Given the description of an element on the screen output the (x, y) to click on. 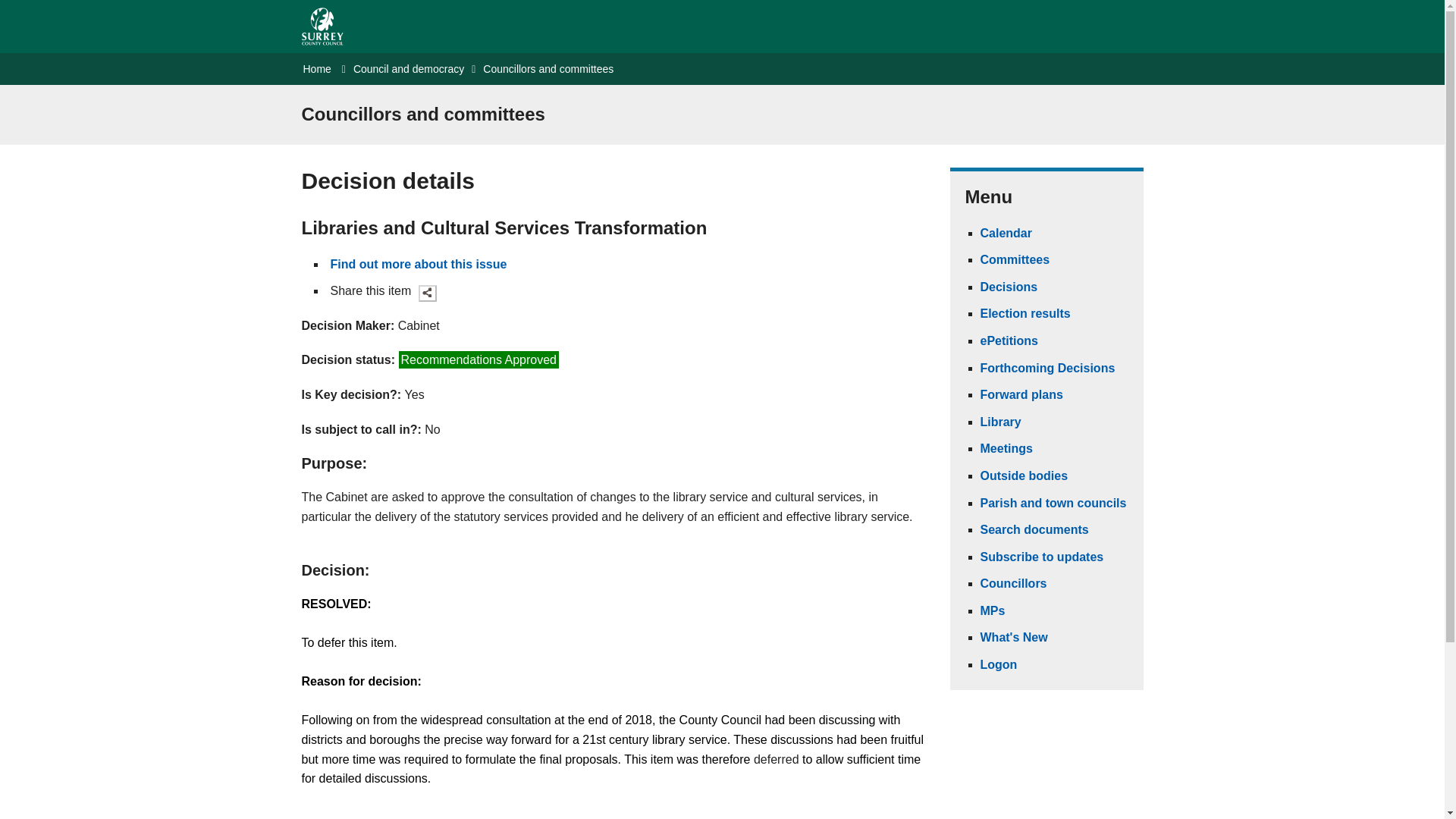
Surrey County Council homepage (322, 26)
Link to Forthcoming Decisions (1047, 367)
Calendar (1004, 232)
Committees (1014, 259)
Library (999, 421)
Link to councillors (1012, 583)
Link to documents library (999, 421)
Outside bodies (1023, 475)
Link to ePetitions (1007, 340)
Meetings (1005, 448)
Parish and town councils (1052, 502)
Forward plans (1020, 394)
Find out more about this issue (418, 264)
Link to committee meetings (1005, 448)
